Given the description of an element on the screen output the (x, y) to click on. 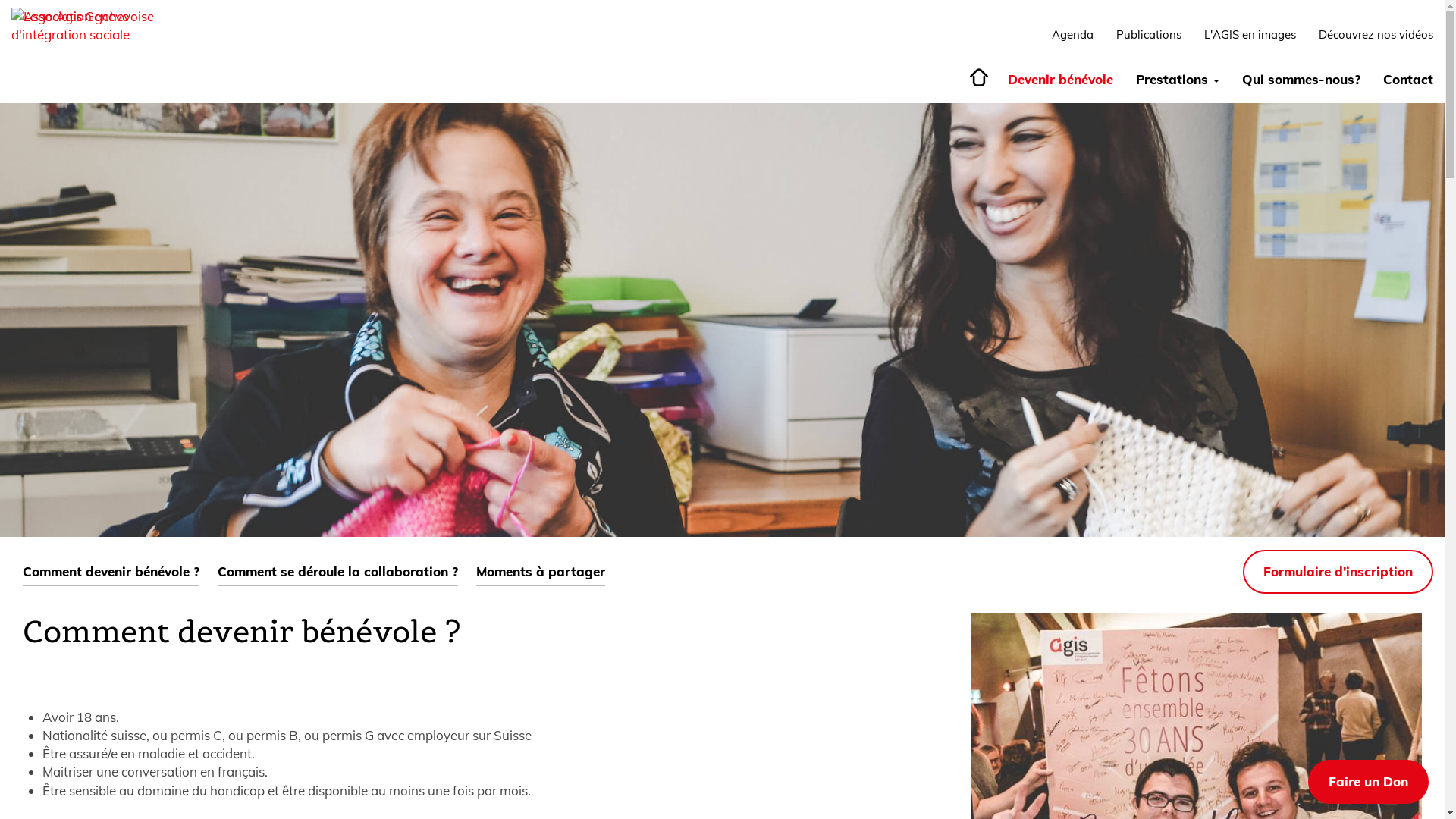
Prestations Element type: text (1177, 79)
L'AGIS en images Element type: text (1249, 34)
Aller au contenu principal Element type: text (0, 0)
Agenda Element type: text (1072, 34)
Faire un Don Element type: text (1368, 781)
Publications Element type: text (1148, 34)
Contact Element type: text (1408, 79)
Accueil Element type: text (977, 77)
Qui sommes-nous? Element type: text (1301, 79)
